Given the description of an element on the screen output the (x, y) to click on. 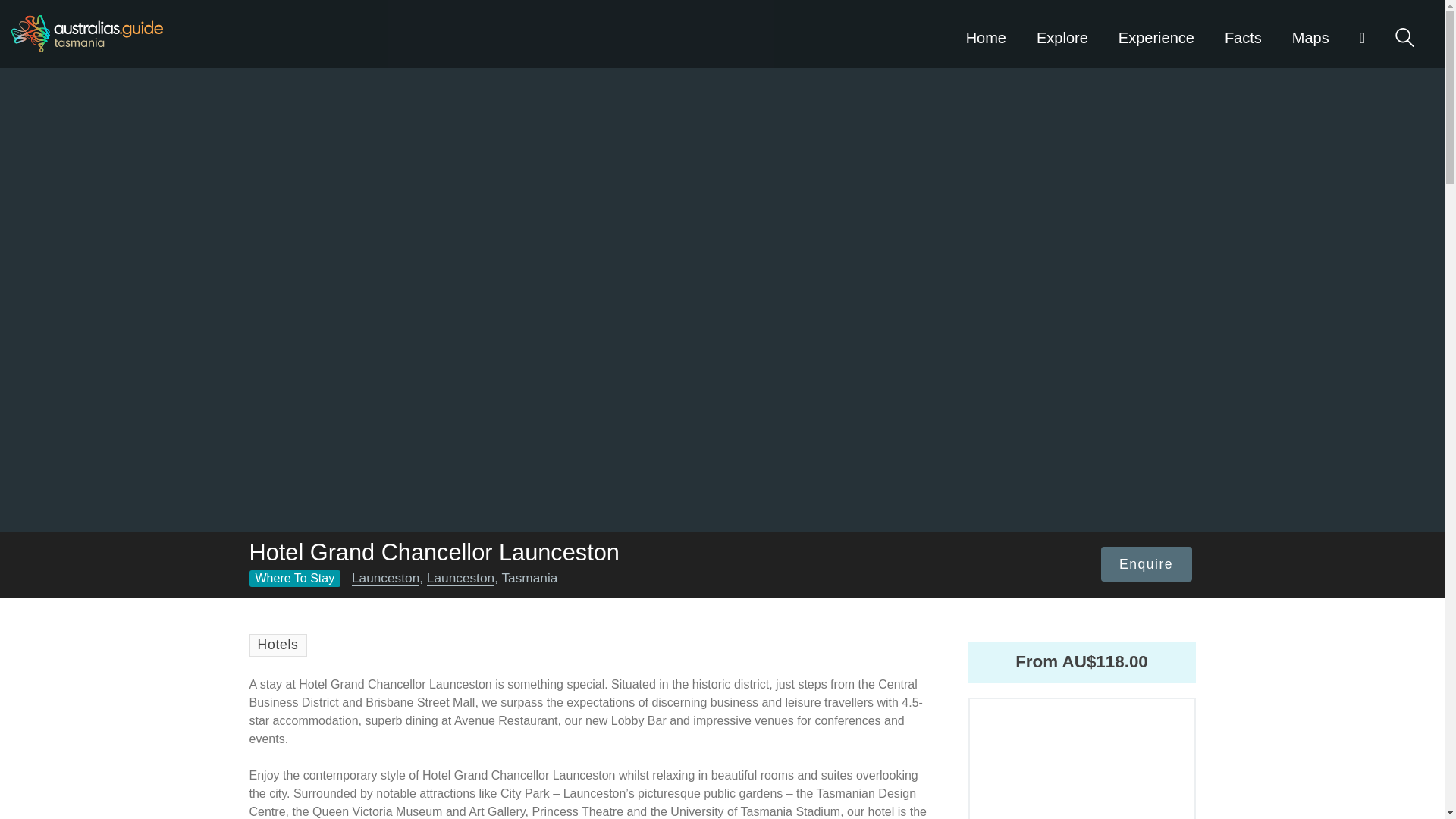
Search (1403, 36)
Maps (1310, 33)
Experience (1155, 33)
Launceston (460, 578)
Where To Stay (294, 578)
Facts (1243, 33)
Home (986, 33)
Explore (1061, 33)
Enquire (1146, 564)
Launceston (385, 578)
